Given the description of an element on the screen output the (x, y) to click on. 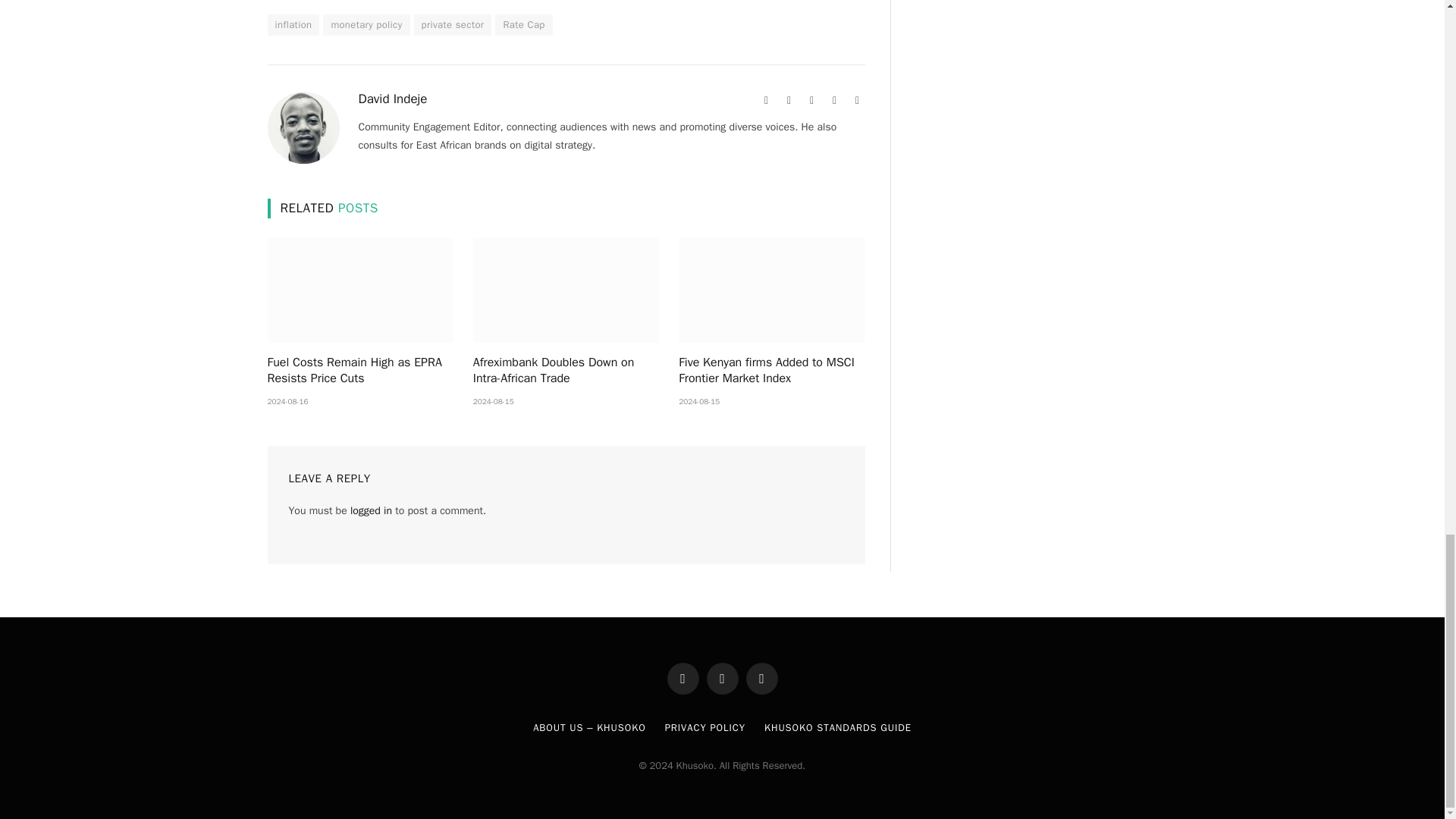
Instagram (834, 100)
Website (765, 100)
Facebook (788, 100)
Posts by David Indeje (392, 99)
LinkedIn (856, 100)
